Given the description of an element on the screen output the (x, y) to click on. 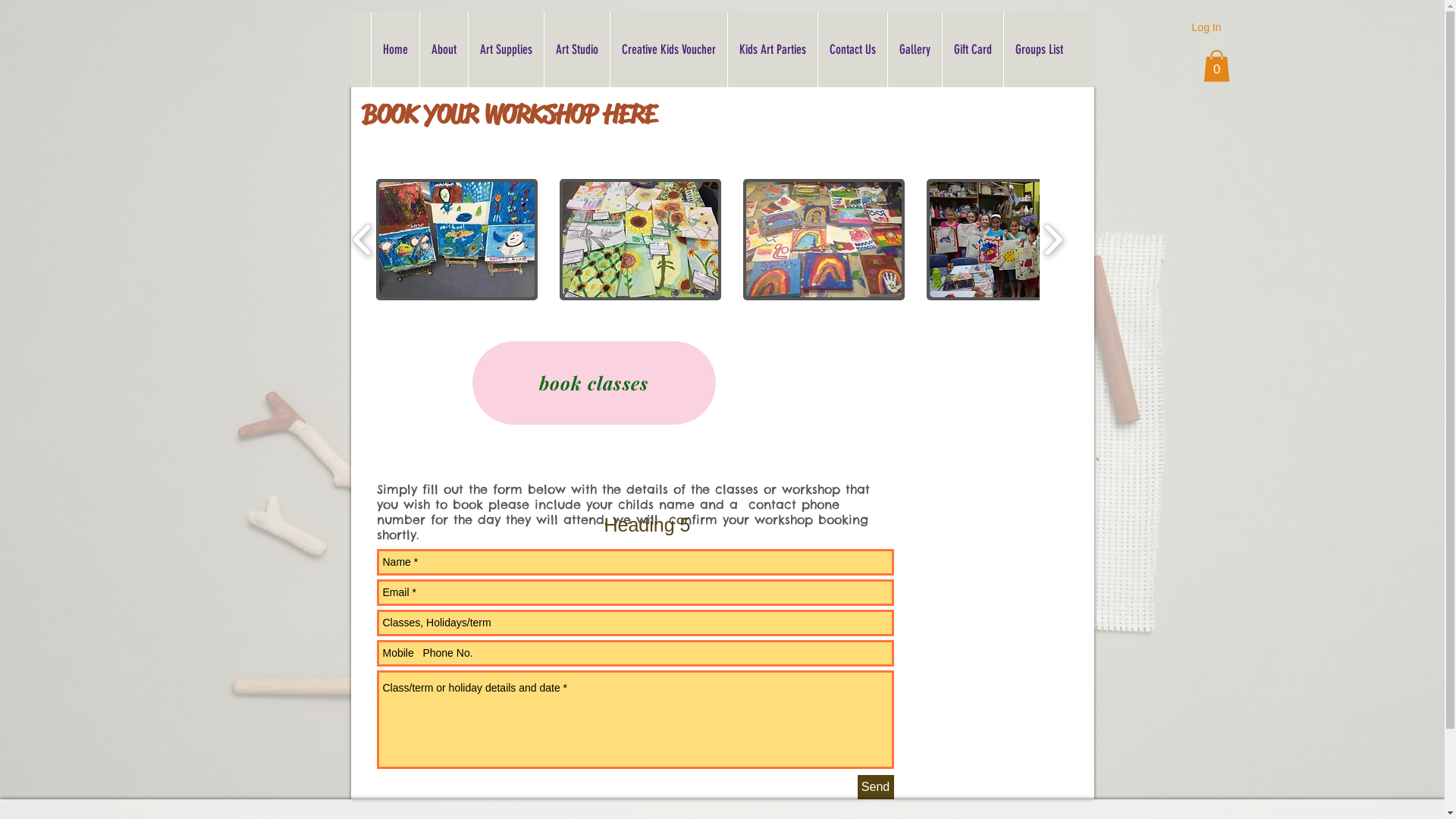
0 Element type: text (1215, 65)
book classes Element type: text (593, 382)
Contact Us Element type: text (852, 49)
Home Element type: text (394, 49)
About Element type: text (442, 49)
Gift Card Element type: text (972, 49)
Gallery Element type: text (914, 49)
Log In Element type: text (1206, 27)
Creative Kids Voucher Element type: text (668, 49)
Kids Art Parties Element type: text (771, 49)
Groups List Element type: text (1037, 49)
Art Studio Element type: text (575, 49)
Send Element type: text (874, 787)
Art Supplies Element type: text (504, 49)
